Given the description of an element on the screen output the (x, y) to click on. 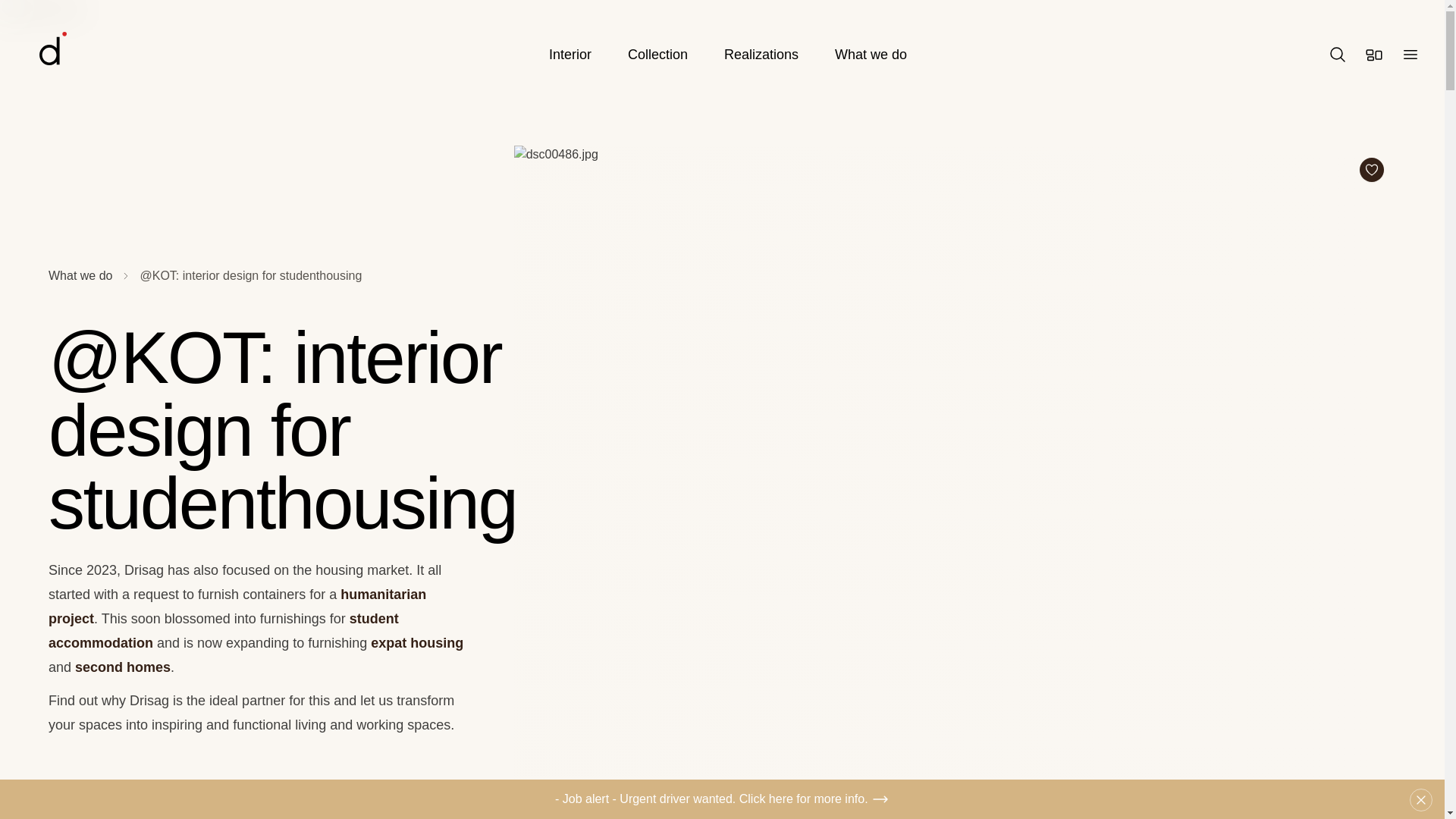
What we do (870, 54)
Realizations (760, 54)
Collection (657, 54)
Collection (657, 54)
Search (1336, 54)
Interior (569, 54)
Realizations (760, 54)
Home (96, 54)
What we do (870, 54)
Interior (569, 54)
